Given the description of an element on the screen output the (x, y) to click on. 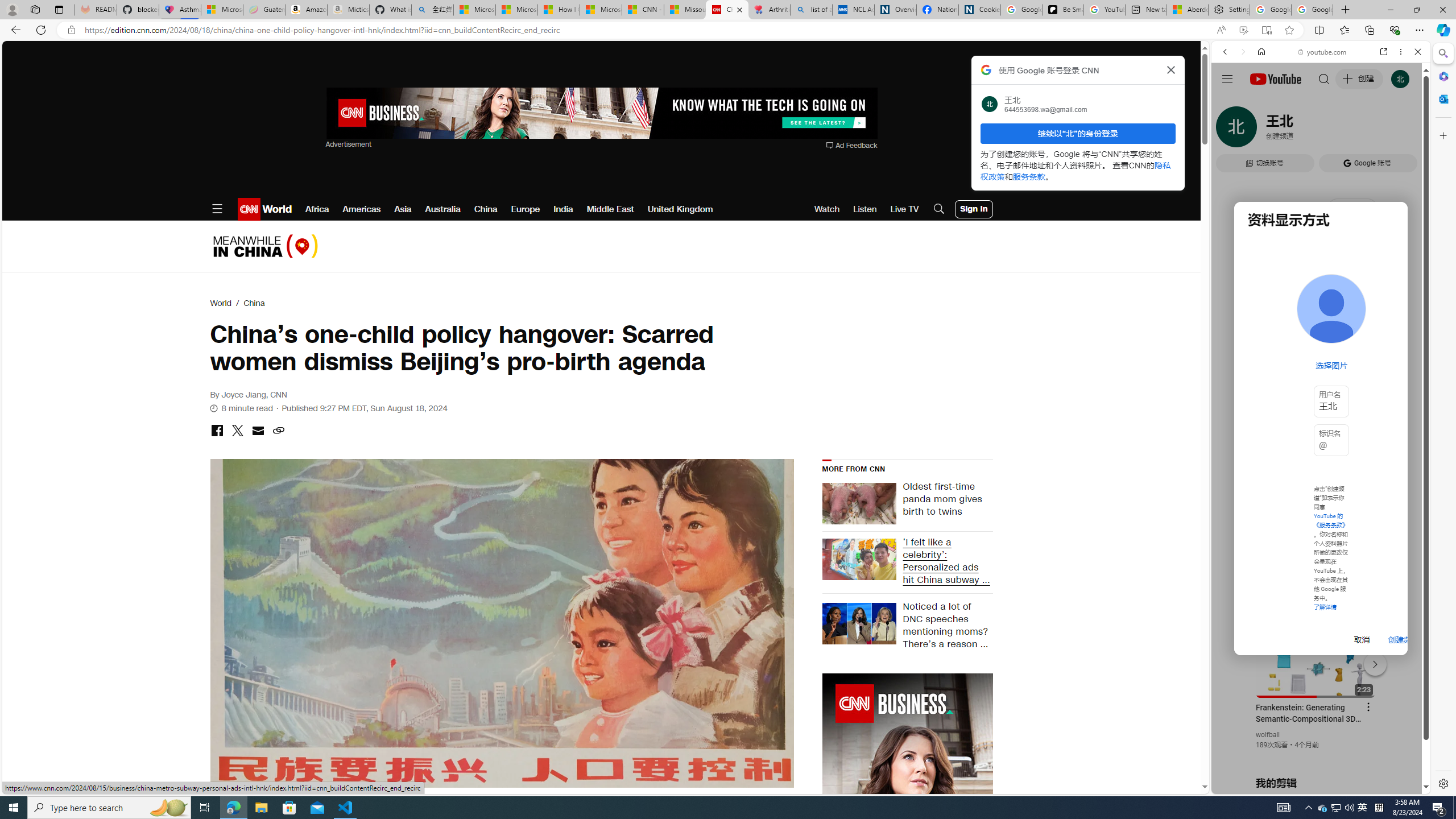
Meanwhile in China (264, 245)
Actions for this site (1371, 661)
Open Menu Icon (216, 208)
Google (1320, 281)
Search Filter, VIDEOS (1300, 129)
Class: dict_pnIcon rms_img (1312, 784)
